Given the description of an element on the screen output the (x, y) to click on. 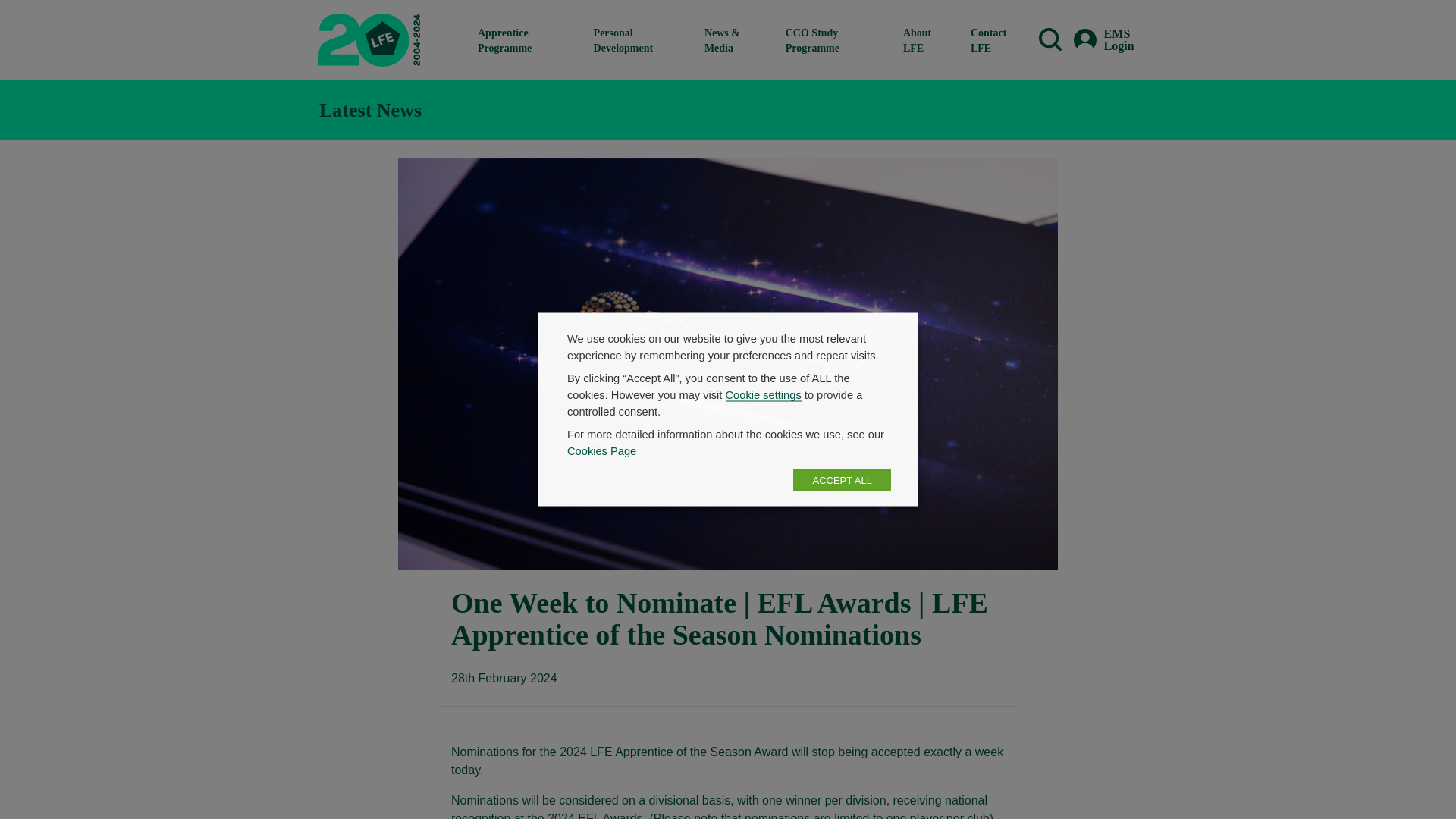
CCO Study Programme (831, 39)
Personal Development (636, 39)
Apprentice Programme (523, 39)
Apprentice Programme (523, 39)
